Given the description of an element on the screen output the (x, y) to click on. 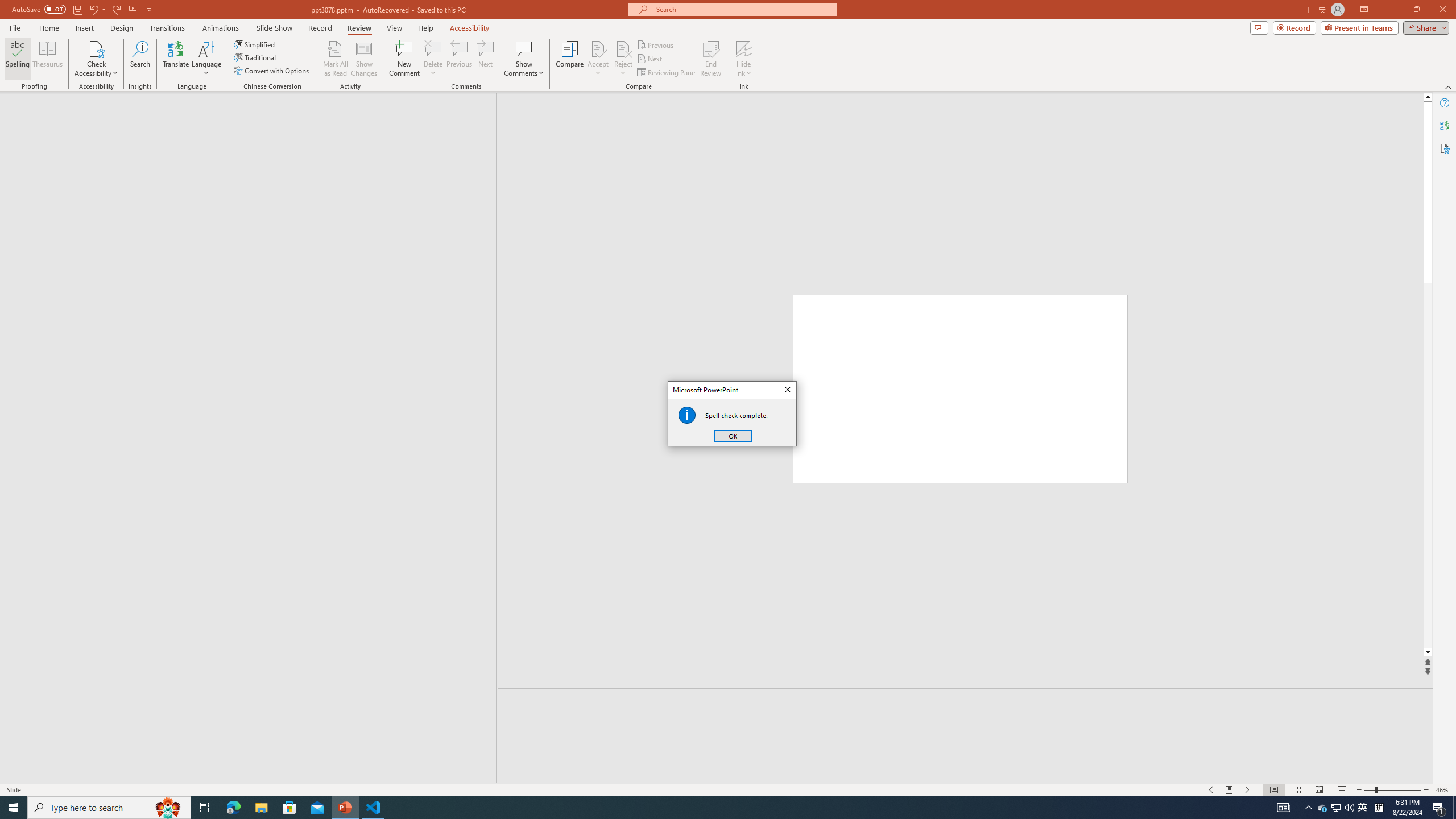
Restore Down (1416, 9)
Check Accessibility (95, 58)
Type here to search (108, 807)
Line down (1427, 652)
Design (122, 28)
Comments (1259, 27)
User Promoted Notification Area (1336, 807)
Normal (1273, 790)
Search highlights icon opens search home window (167, 807)
Hide Ink (743, 58)
Thesaurus... (47, 58)
Translator (1444, 125)
Next (649, 58)
Share (1423, 27)
